Given the description of an element on the screen output the (x, y) to click on. 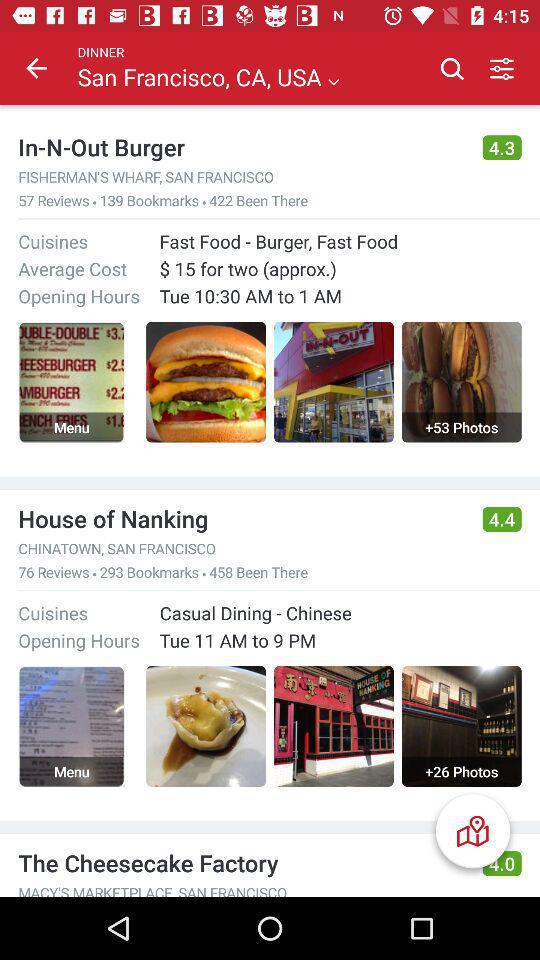
choose the item above the fisherman s wharf item (241, 147)
